Given the description of an element on the screen output the (x, y) to click on. 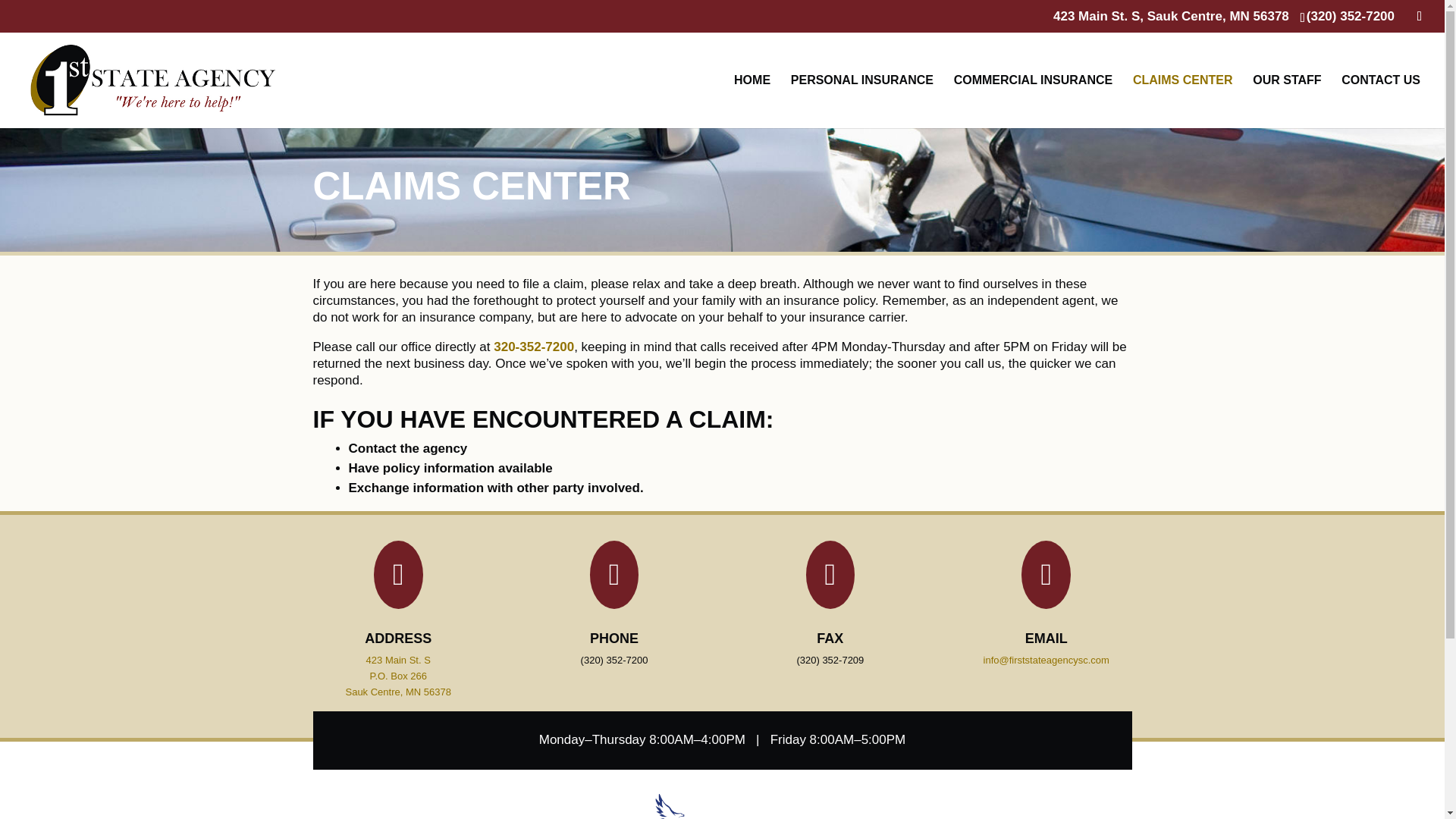
423 Main St. S (398, 664)
COMMERCIAL INSURANCE (1032, 100)
CONTACT US (1380, 100)
Sauk Centre, MN 56378 (397, 694)
P.O. Box 266 (397, 678)
CLAIMS CENTER (1182, 100)
PHONE (614, 639)
OUR STAFF (1286, 100)
PERSONAL INSURANCE (861, 100)
320-352-7200 (533, 350)
EMAIL (1046, 639)
